Given the description of an element on the screen output the (x, y) to click on. 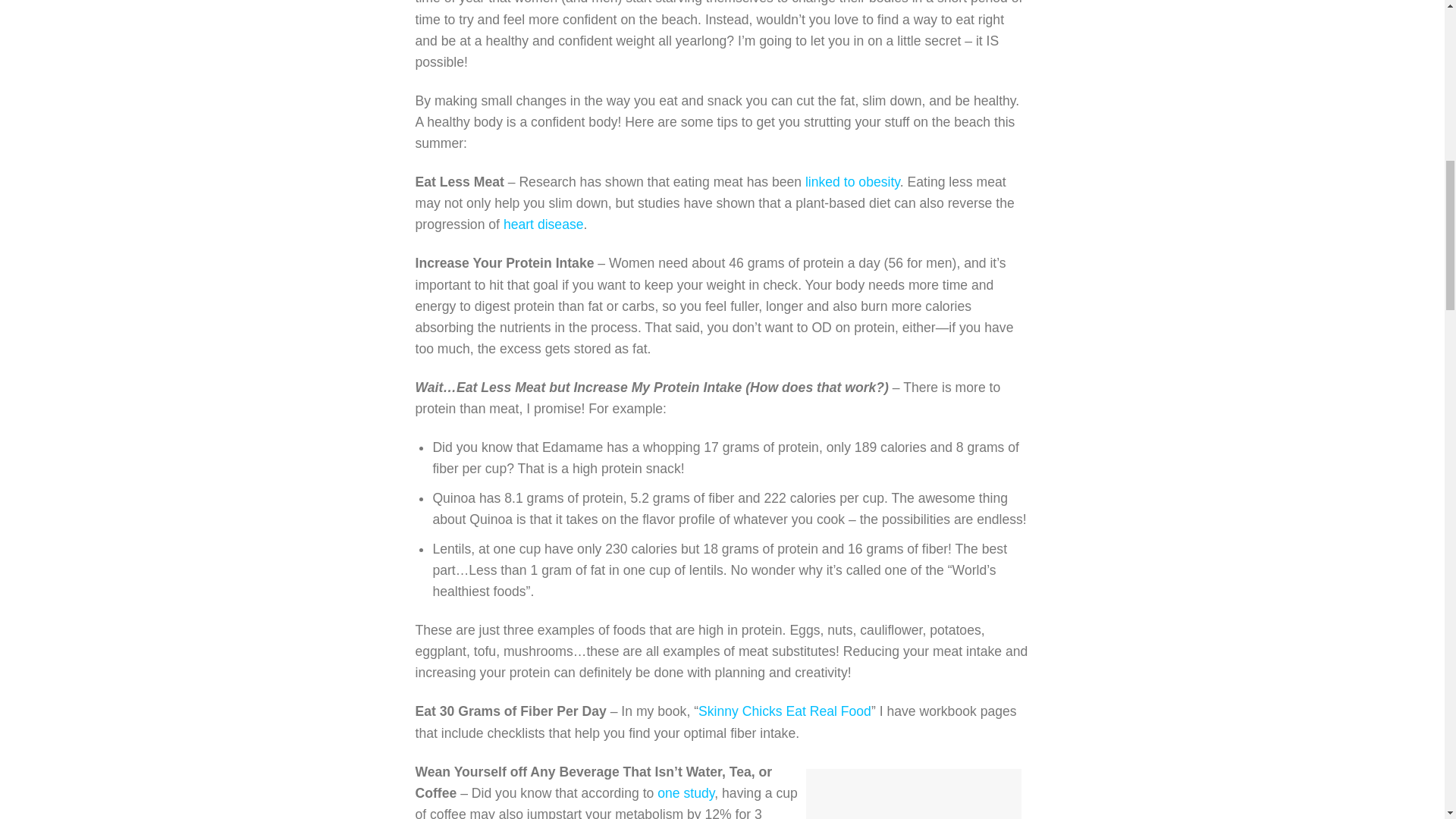
heart disease (543, 224)
one study (686, 792)
Skinny Chicks Eat Real Food (784, 711)
linked to obesity (852, 181)
